Given the description of an element on the screen output the (x, y) to click on. 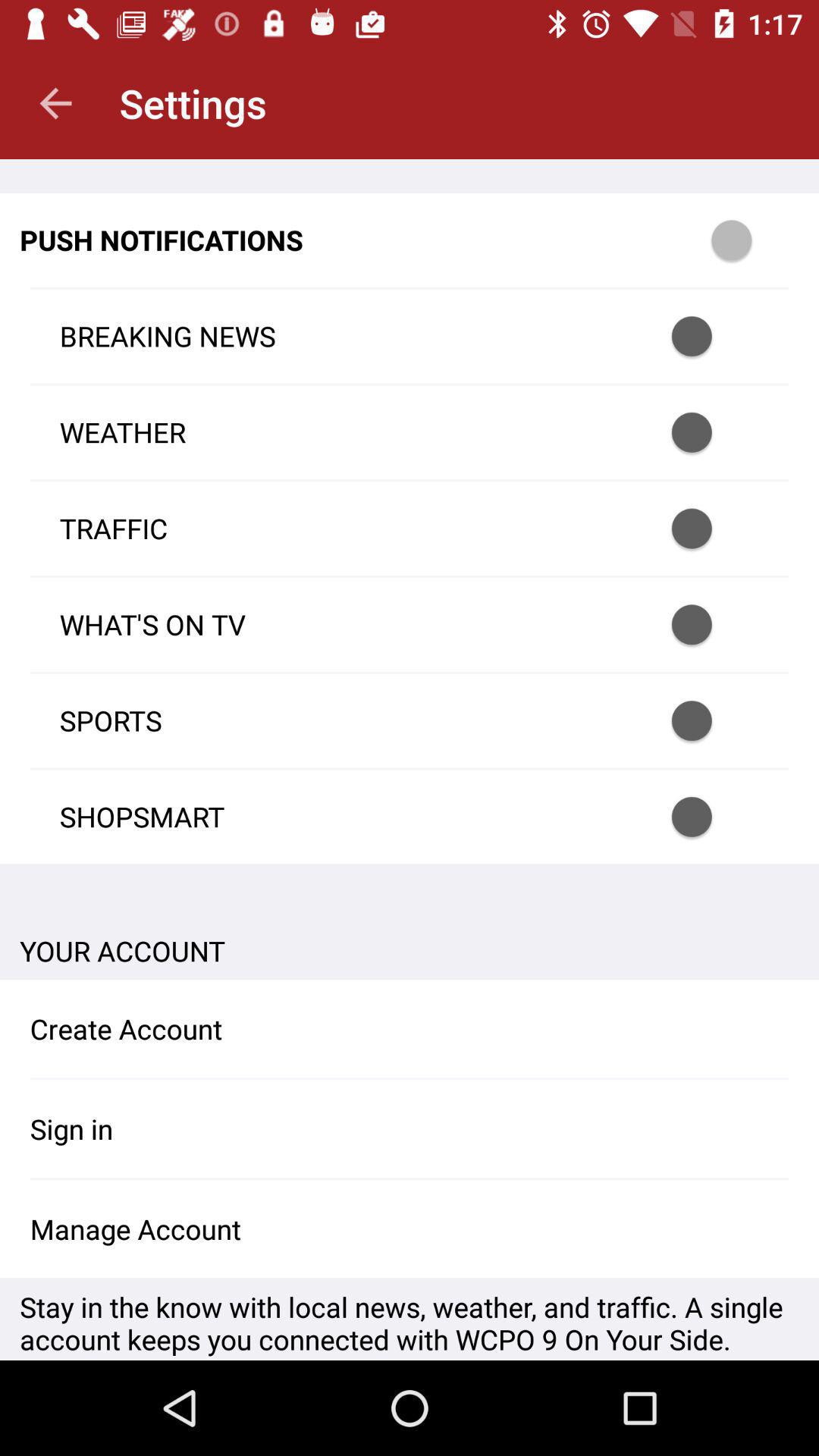
toggle push notifications (751, 240)
